Given the description of an element on the screen output the (x, y) to click on. 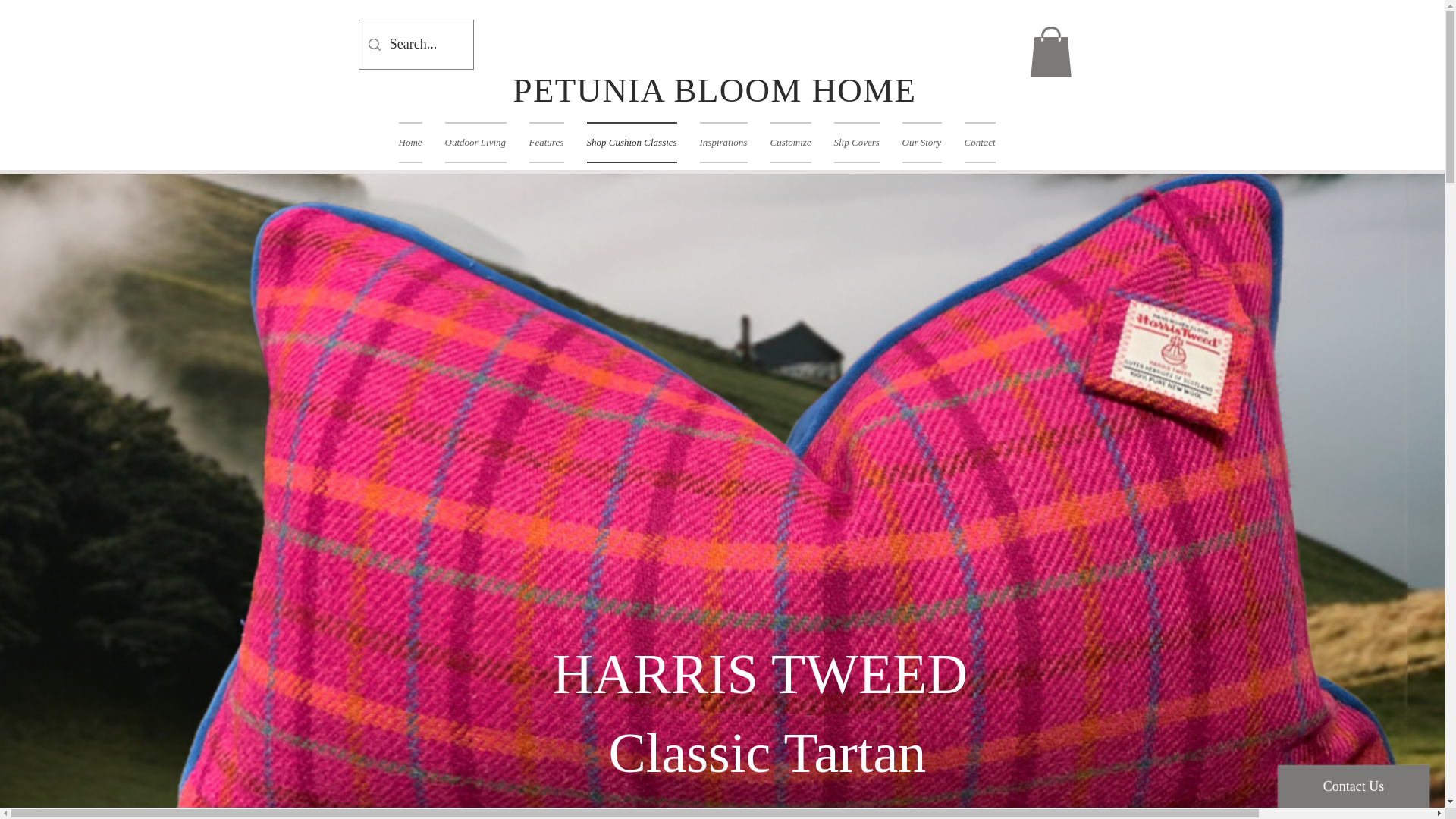
Contact (979, 142)
Inspirations (723, 142)
Outdoor Living (475, 142)
Features (545, 142)
Slip Covers (855, 142)
Wix Chat (1356, 782)
Customize (790, 142)
Our Story (920, 142)
Shop Cushion Classics (631, 142)
